Given the description of an element on the screen output the (x, y) to click on. 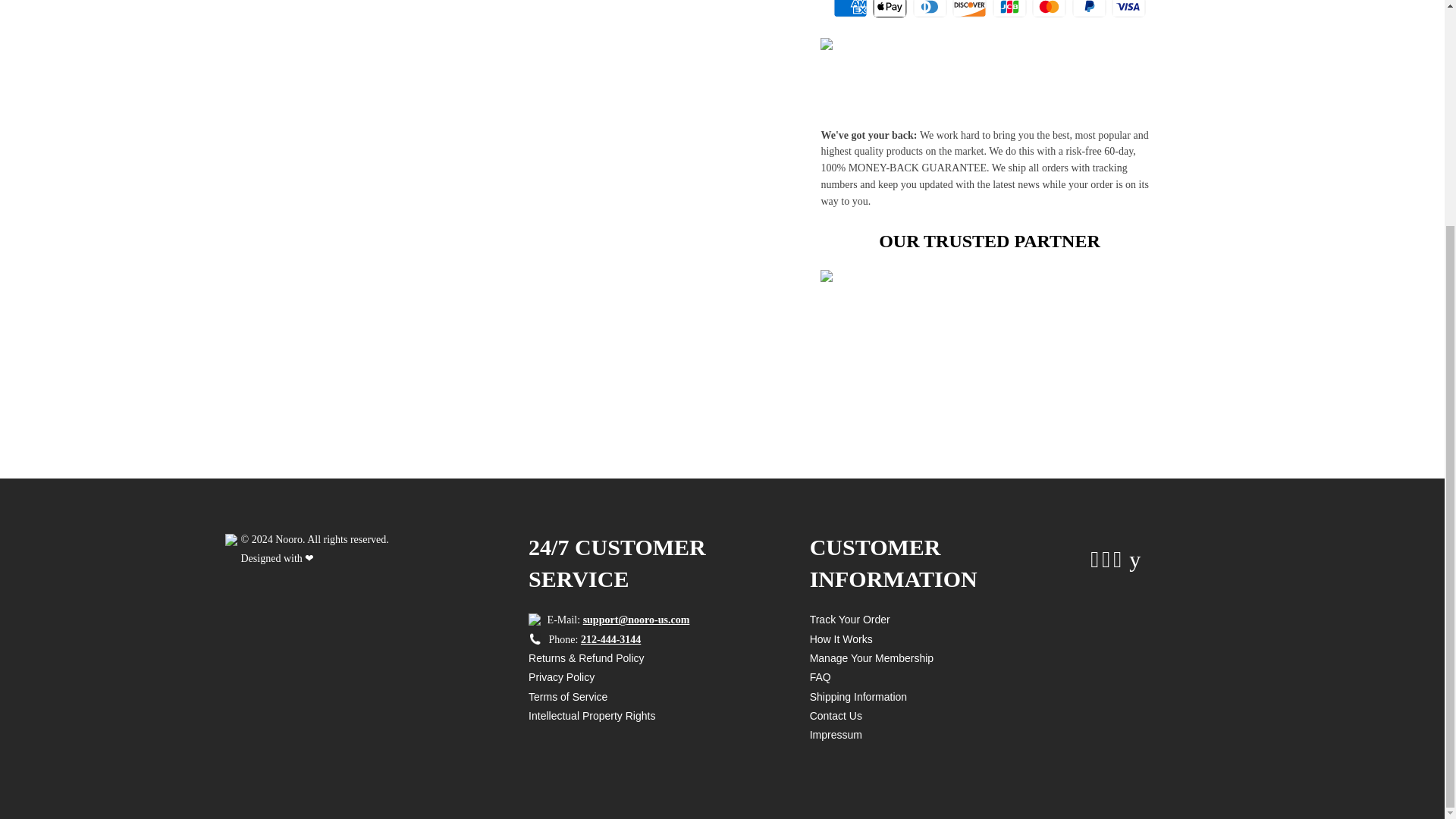
Phone: 212-444-3144 (584, 639)
PayPal (1088, 8)
Visa (1128, 8)
nooro US on Pinterest (1107, 563)
Discover (969, 8)
Intellectual Property Rights (591, 715)
How It Works (840, 639)
Mastercard (1048, 8)
nooro US on Instagram (1118, 563)
JCB (1009, 8)
Diners Club (929, 8)
Privacy Policy (561, 676)
Apple Pay (889, 8)
nooro US on YouTube (1133, 563)
Track Your Order (849, 619)
